Given the description of an element on the screen output the (x, y) to click on. 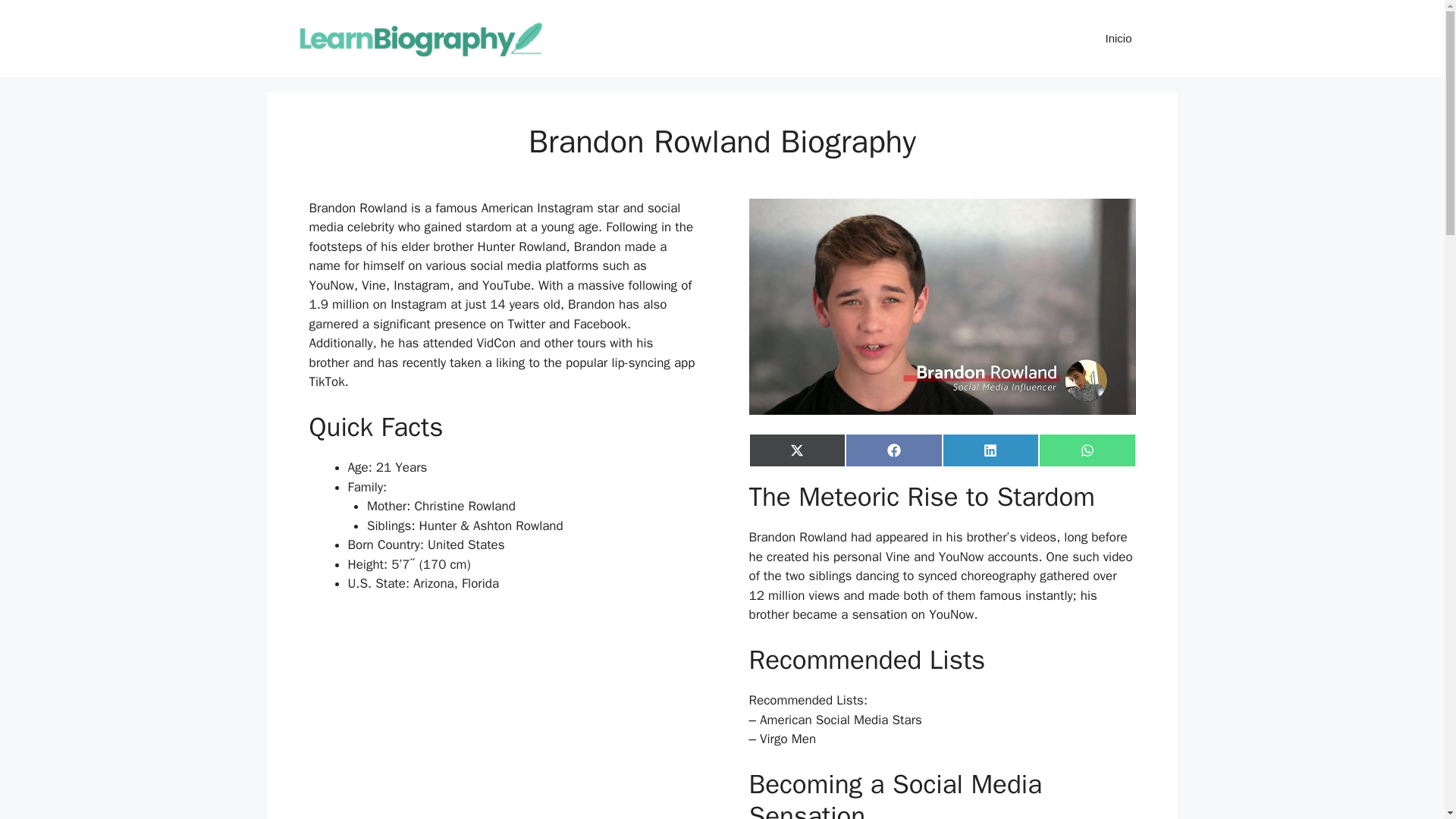
Inicio (1118, 38)
Share on Facebook (893, 450)
Share on WhatsApp (1087, 450)
YouTube video player (501, 715)
Share on LinkedIn (990, 450)
